Given the description of an element on the screen output the (x, y) to click on. 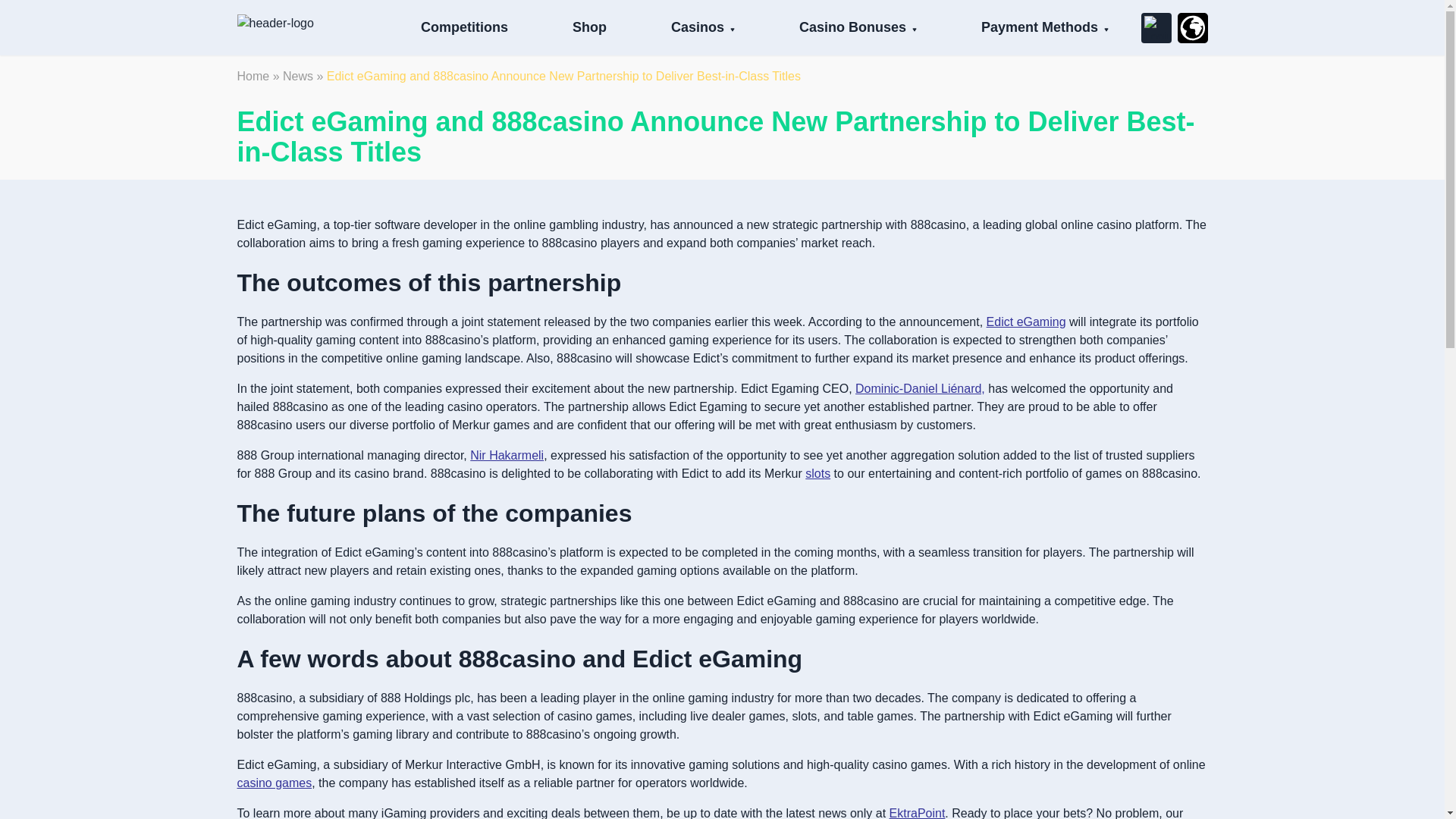
Casino Bonuses (852, 27)
Competitions (464, 27)
Casinos (697, 27)
Payment Methods (1039, 27)
Shop (589, 27)
